Given the description of an element on the screen output the (x, y) to click on. 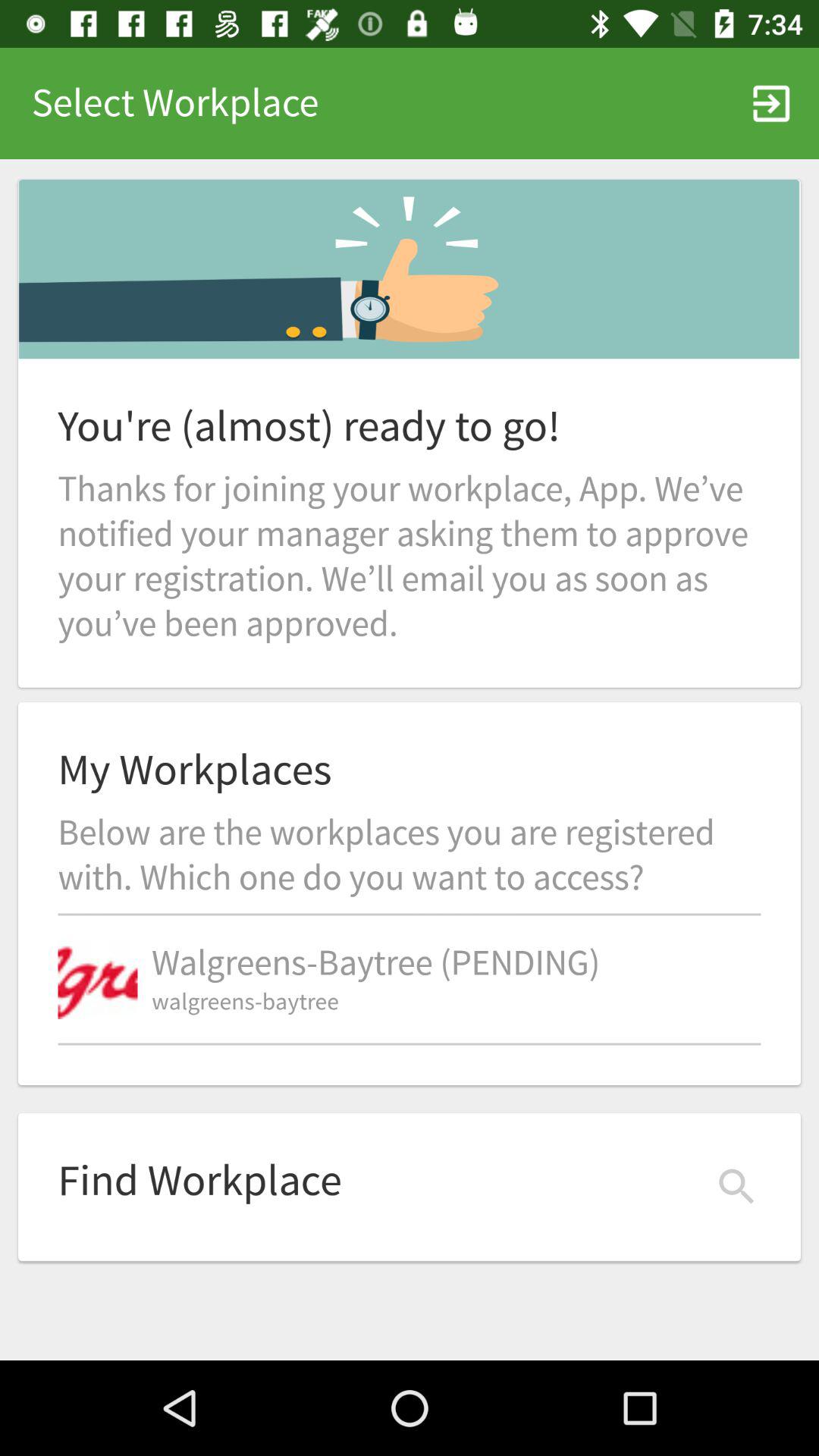
click item next to the select workplace item (771, 103)
